Given the description of an element on the screen output the (x, y) to click on. 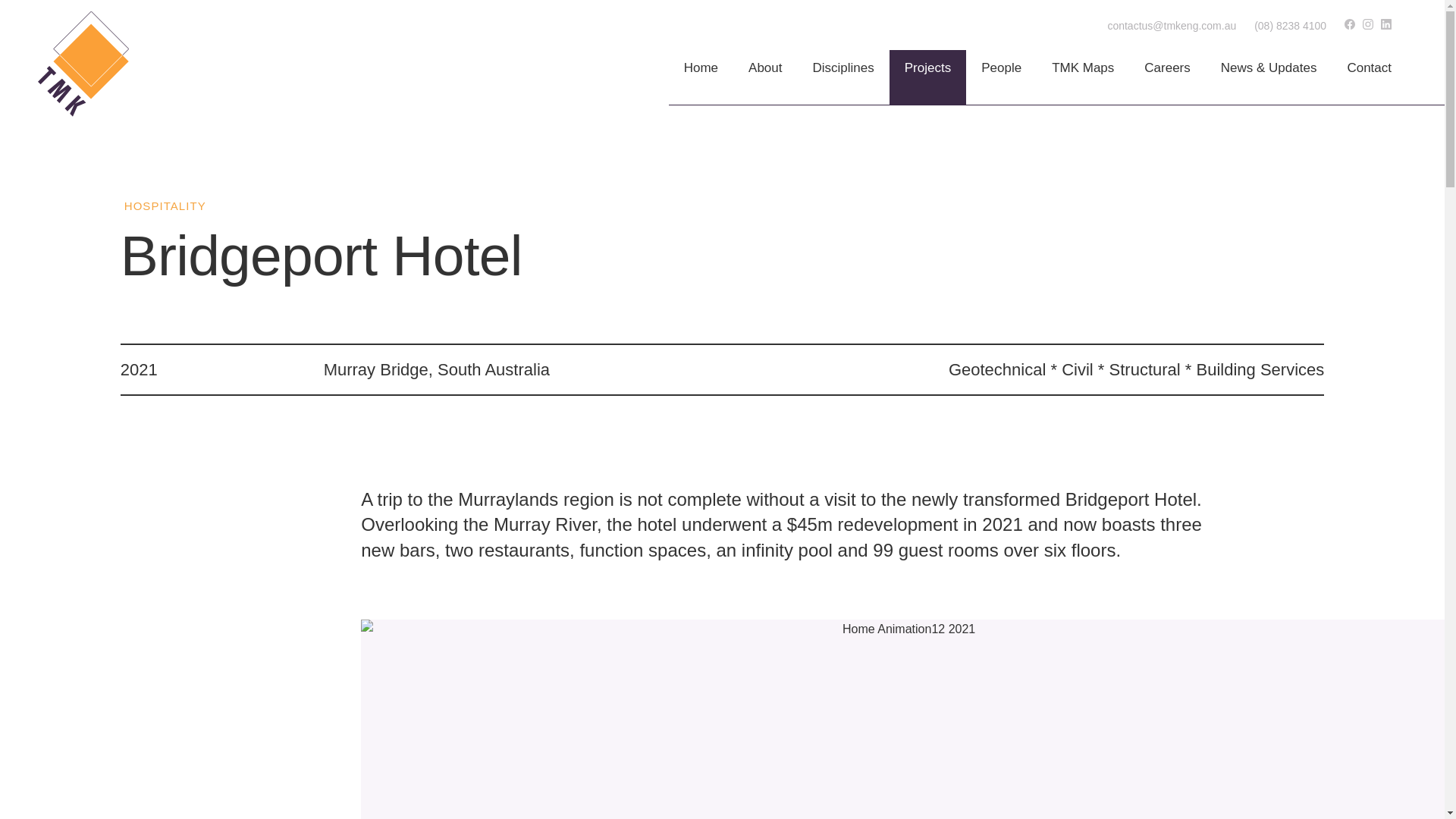
About (764, 76)
TMK on instagram (1367, 23)
TMK Maps (1082, 76)
TMK on linkedIn (1385, 23)
People (1001, 76)
Disciplines (843, 76)
Home (700, 76)
Careers (1167, 76)
TMK on facebook (1349, 23)
Contact (1369, 76)
Projects (927, 76)
